Given the description of an element on the screen output the (x, y) to click on. 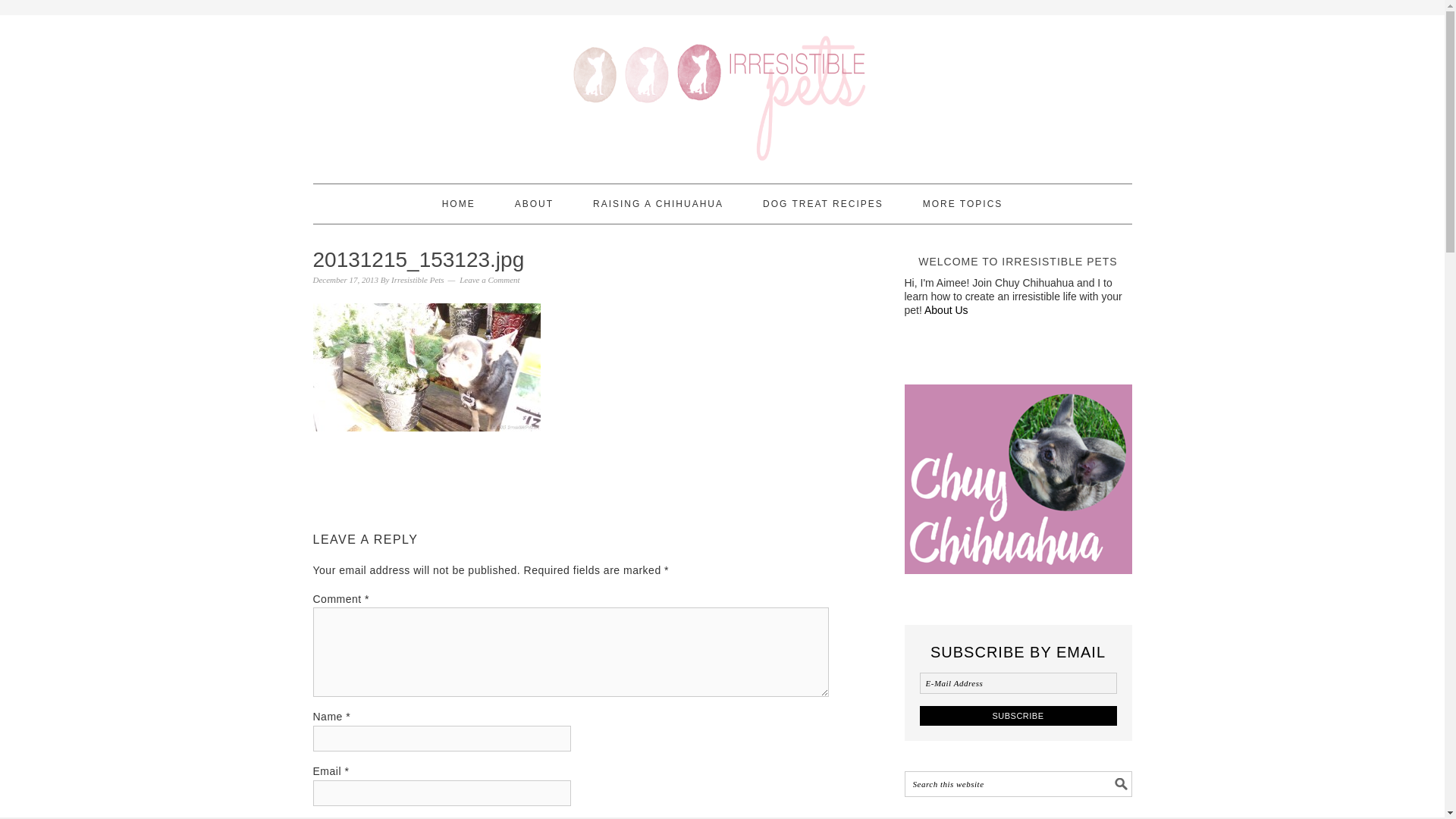
Leave a Comment (489, 279)
MORE TOPICS (963, 203)
Irresistible Pets (417, 279)
ABOUT (534, 203)
IRRESISTIBLE PETS (722, 92)
Subscribe (1017, 714)
Subscribe (1017, 714)
HOME (459, 203)
About Us (946, 309)
